Given the description of an element on the screen output the (x, y) to click on. 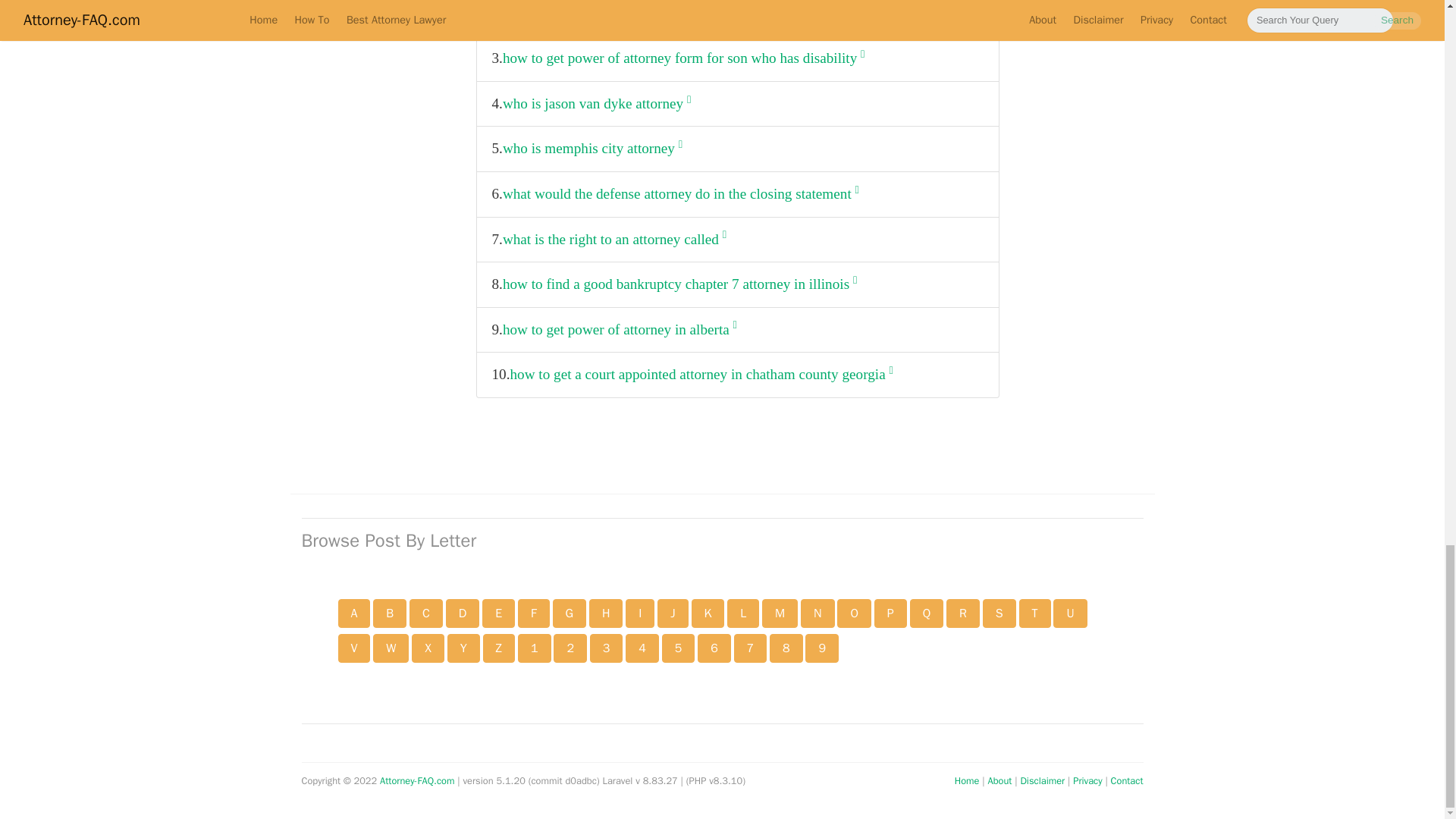
how to get power of attorney form for son who has disability (683, 58)
P (891, 613)
K (708, 613)
A (354, 613)
who is memphis city attorney (592, 148)
O (853, 613)
how to find a good bankruptcy chapter 7 attorney in illinois (679, 284)
H (606, 613)
M (779, 613)
what would the defense attorney do in the closing statement (680, 194)
